Given the description of an element on the screen output the (x, y) to click on. 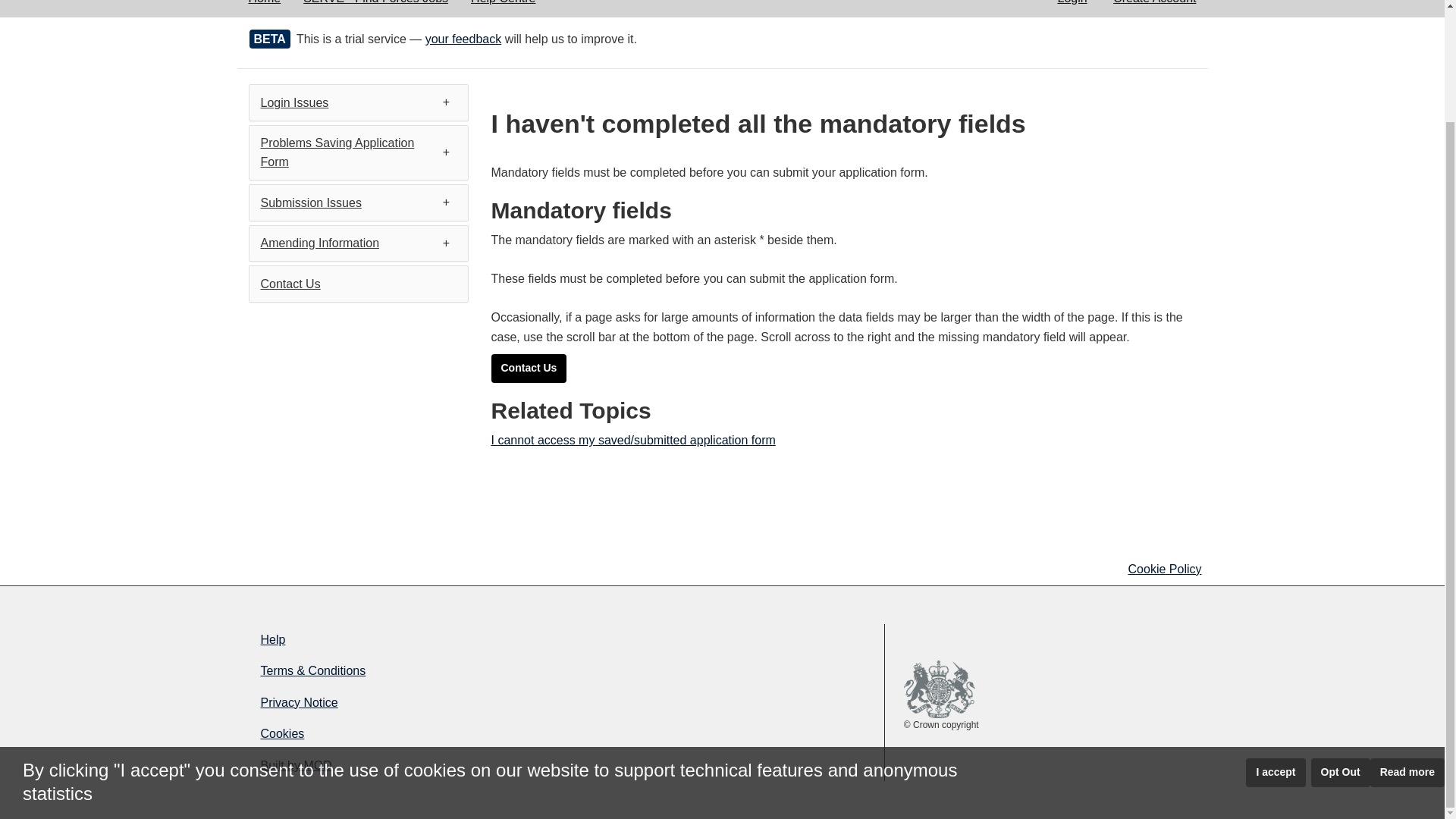
Contact Us (529, 368)
Submission Issues (310, 202)
Amending Information (320, 242)
Contact Us (290, 283)
Cookie Policy (1165, 568)
Help (399, 640)
Problems Saving Application Form (337, 152)
your feedback (463, 38)
Opt Out (1340, 640)
Login (1071, 8)
Create Account (1154, 8)
Privacy Notice (399, 703)
Home (263, 8)
I accept (1275, 640)
Help Centre (503, 8)
